Given the description of an element on the screen output the (x, y) to click on. 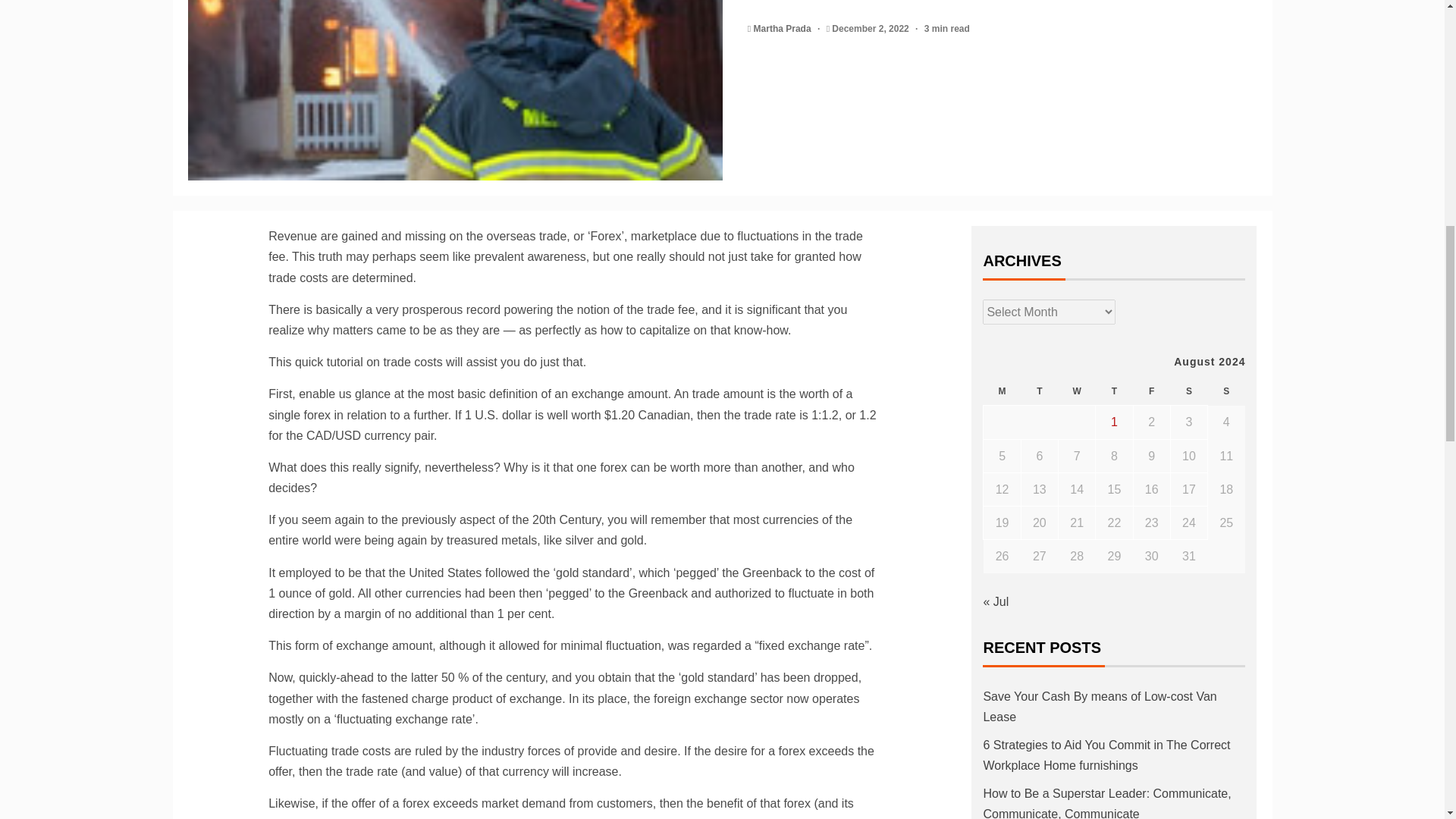
Wednesday (1077, 391)
Tuesday (1039, 391)
Save Your Cash By means of Low-cost Van Lease (1098, 706)
Martha Prada (783, 28)
Monday (1002, 391)
Thursday (1114, 391)
